Given the description of an element on the screen output the (x, y) to click on. 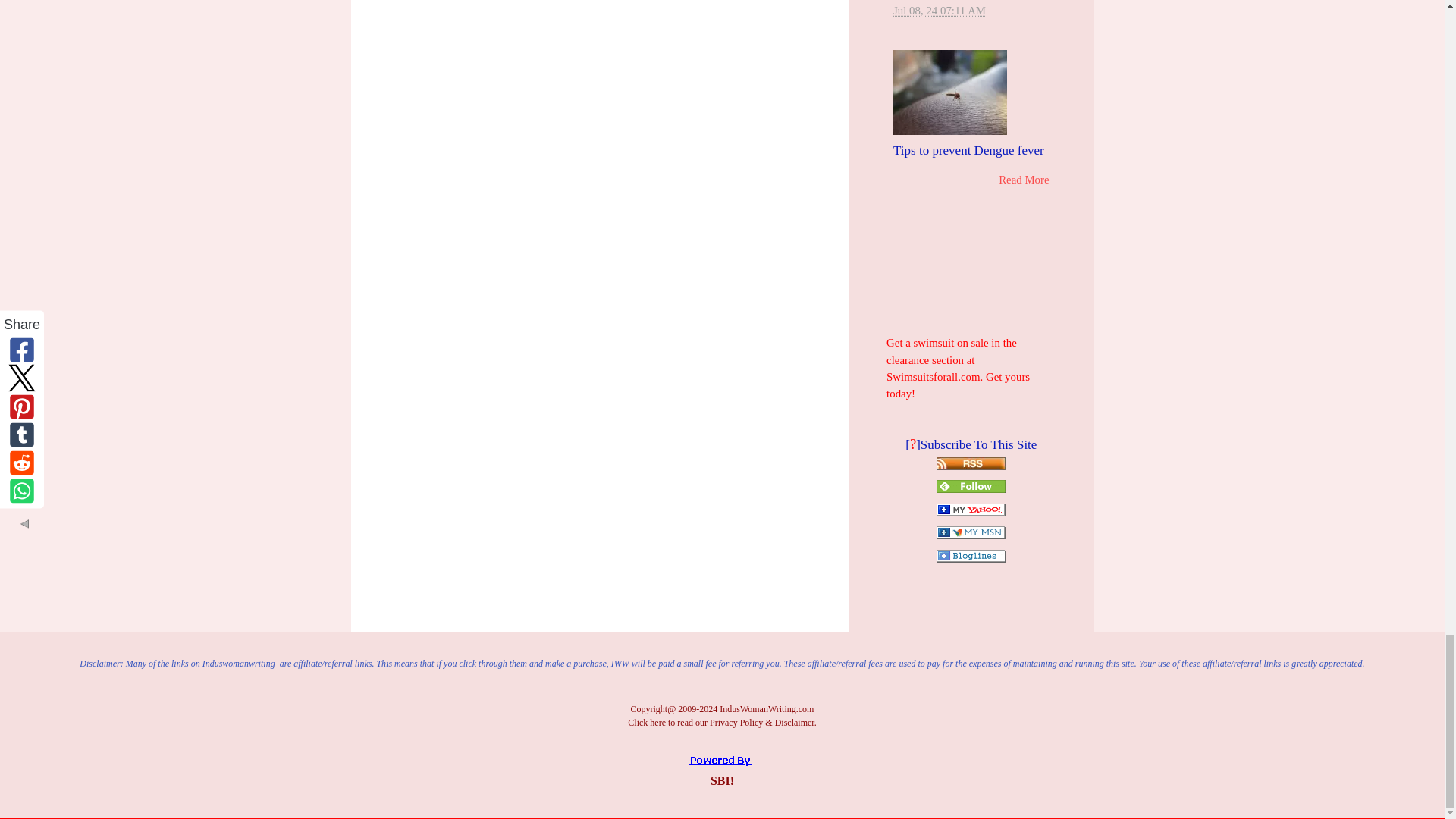
2024-07-08T07:11:21-0400 (939, 10)
